Given the description of an element on the screen output the (x, y) to click on. 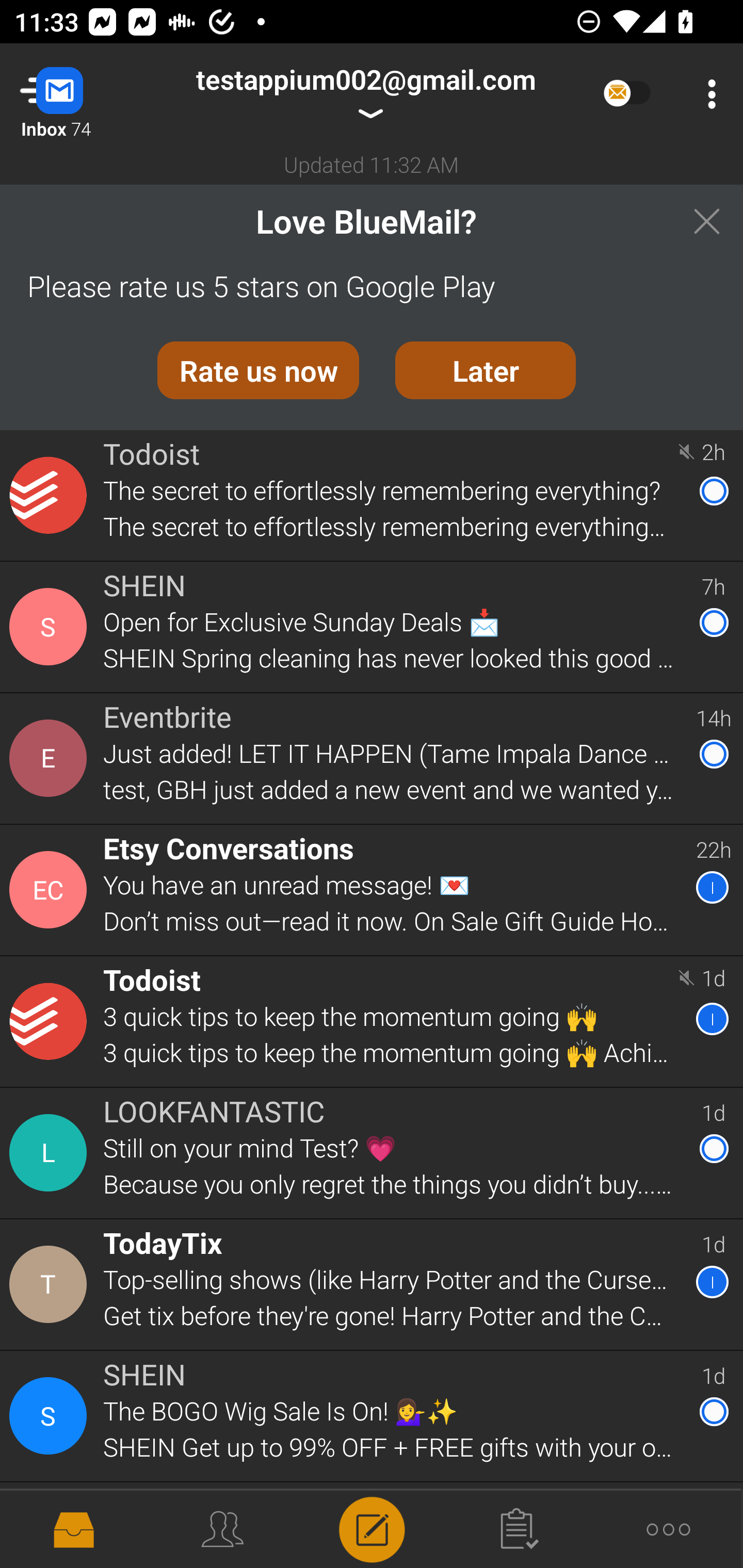
Navigate up (81, 93)
testappium002@gmail.com (365, 93)
More Options (706, 93)
Updated 11:32 AM (371, 164)
Rate us now (257, 370)
Later (485, 370)
Contact Details (50, 495)
Contact Details (50, 626)
Contact Details (50, 758)
Contact Details (50, 889)
Contact Details (50, 1021)
Contact Details (50, 1153)
Contact Details (50, 1284)
Contact Details (50, 1416)
Contact Details (50, 1524)
Compose (371, 1528)
